Given the description of an element on the screen output the (x, y) to click on. 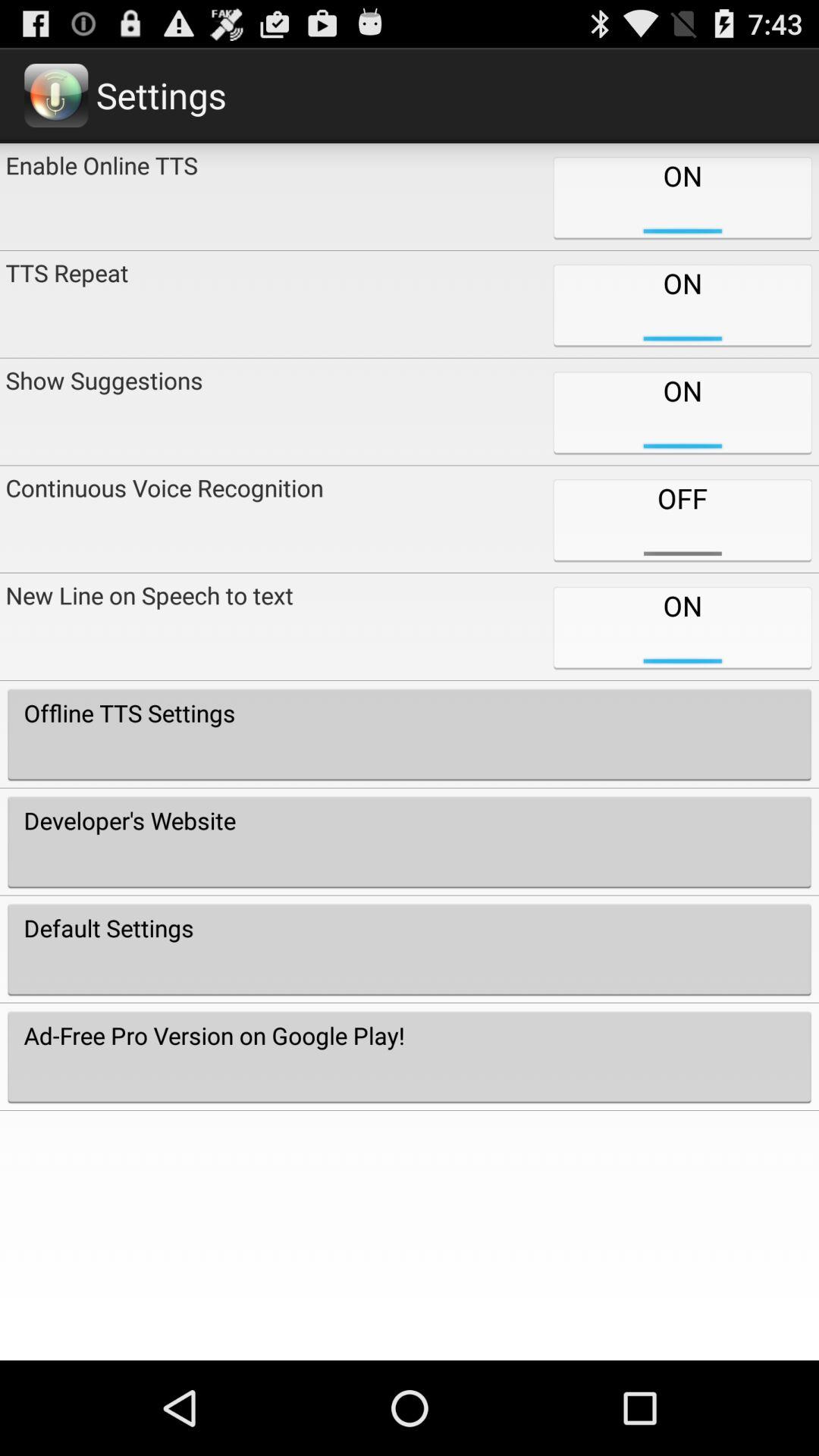
scroll until the developer's website item (409, 841)
